Given the description of an element on the screen output the (x, y) to click on. 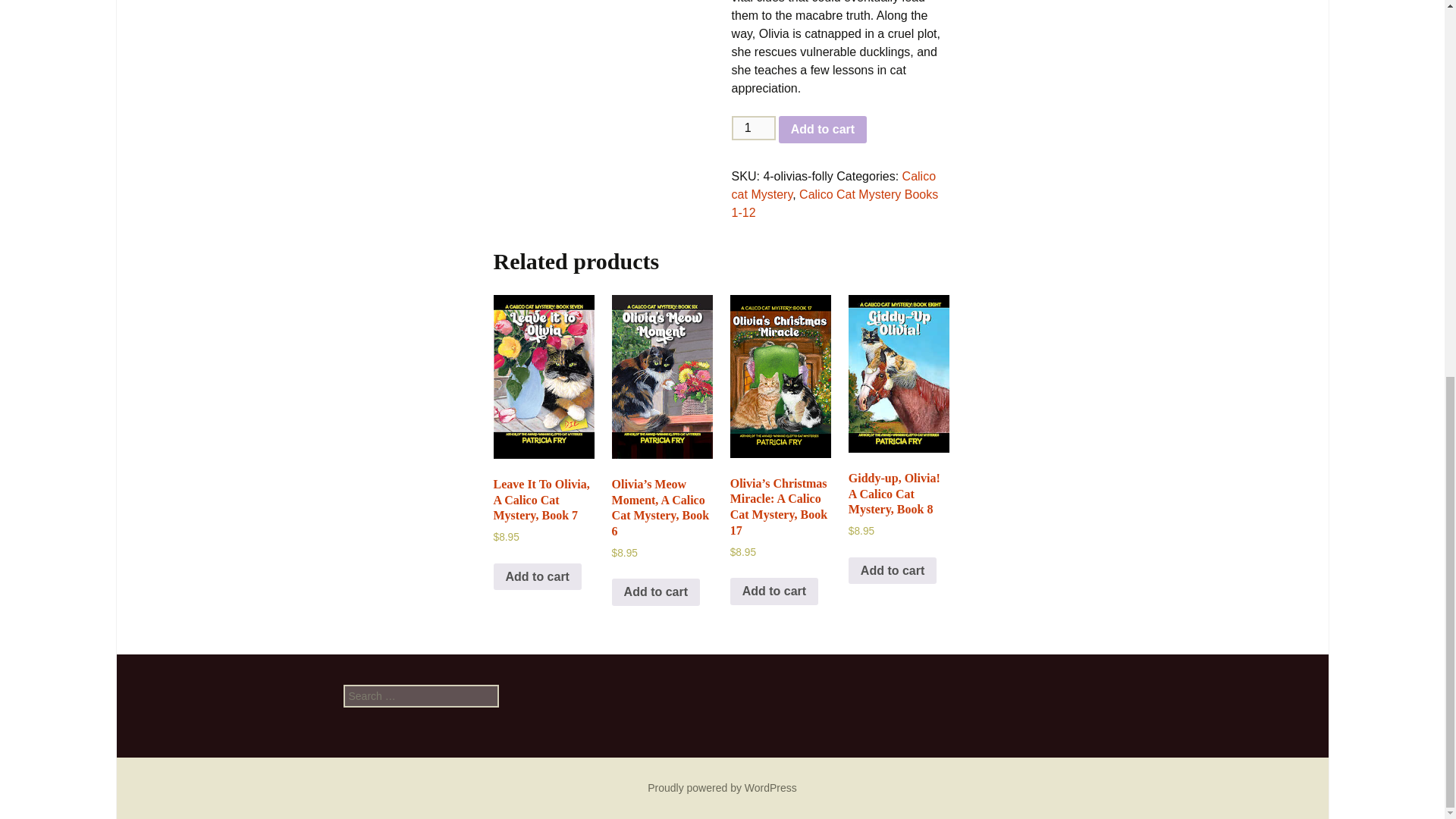
Add to cart (774, 591)
Add to cart (536, 576)
Calico cat Mystery (834, 184)
Proudly powered by WordPress (721, 787)
Add to cart (655, 592)
1 (754, 128)
Add to cart (892, 570)
Add to cart (822, 129)
Calico Cat Mystery Books 1-12 (835, 203)
